Given the description of an element on the screen output the (x, y) to click on. 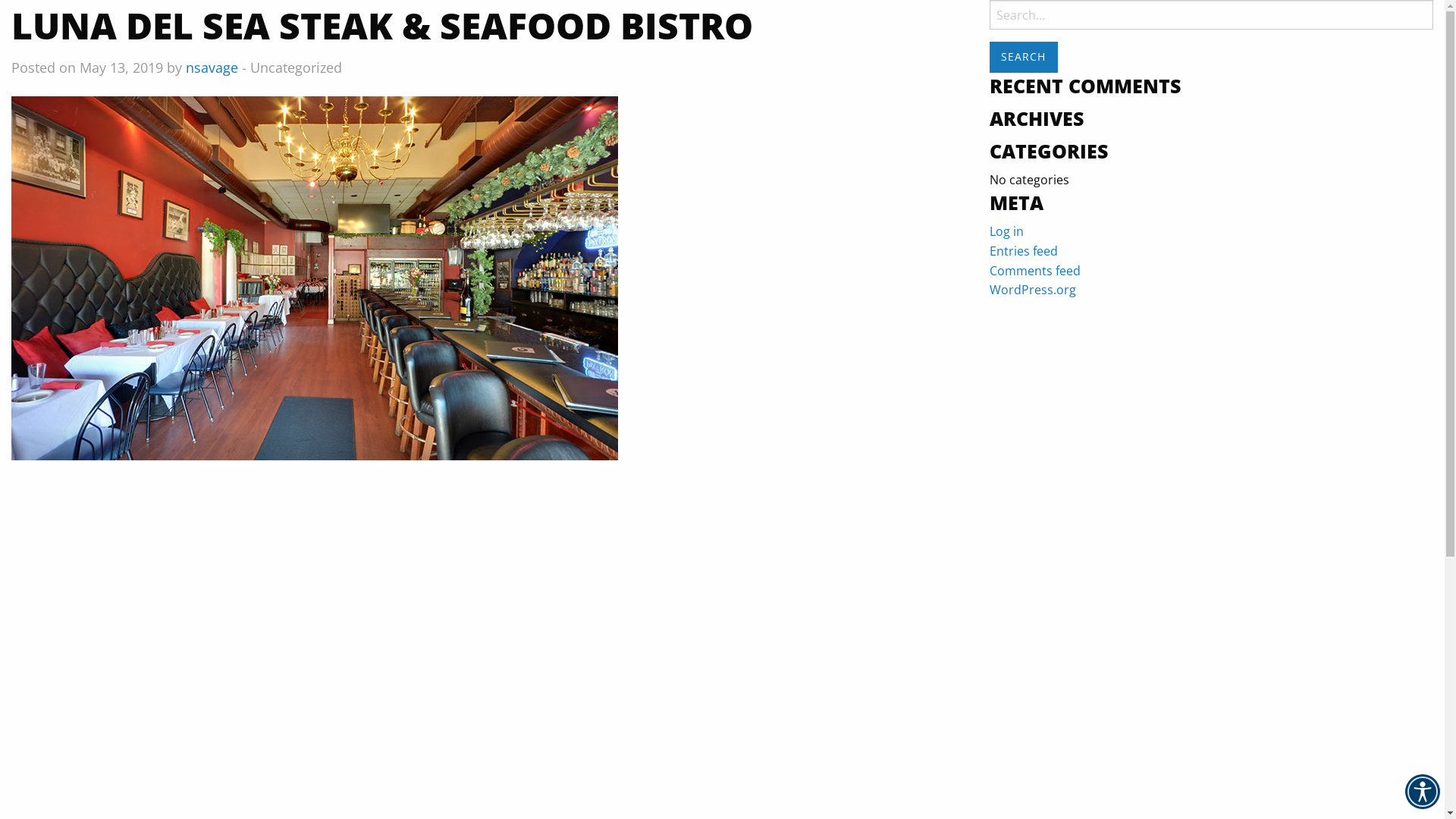
Search for: Element type: hover (1211, 14)
Search Element type: text (1023, 56)
Log in Element type: text (1006, 230)
WordPress.org Element type: text (1032, 289)
Entries feed Element type: text (1023, 250)
nsavage Element type: text (211, 67)
Comments feed Element type: text (1034, 270)
